Given the description of an element on the screen output the (x, y) to click on. 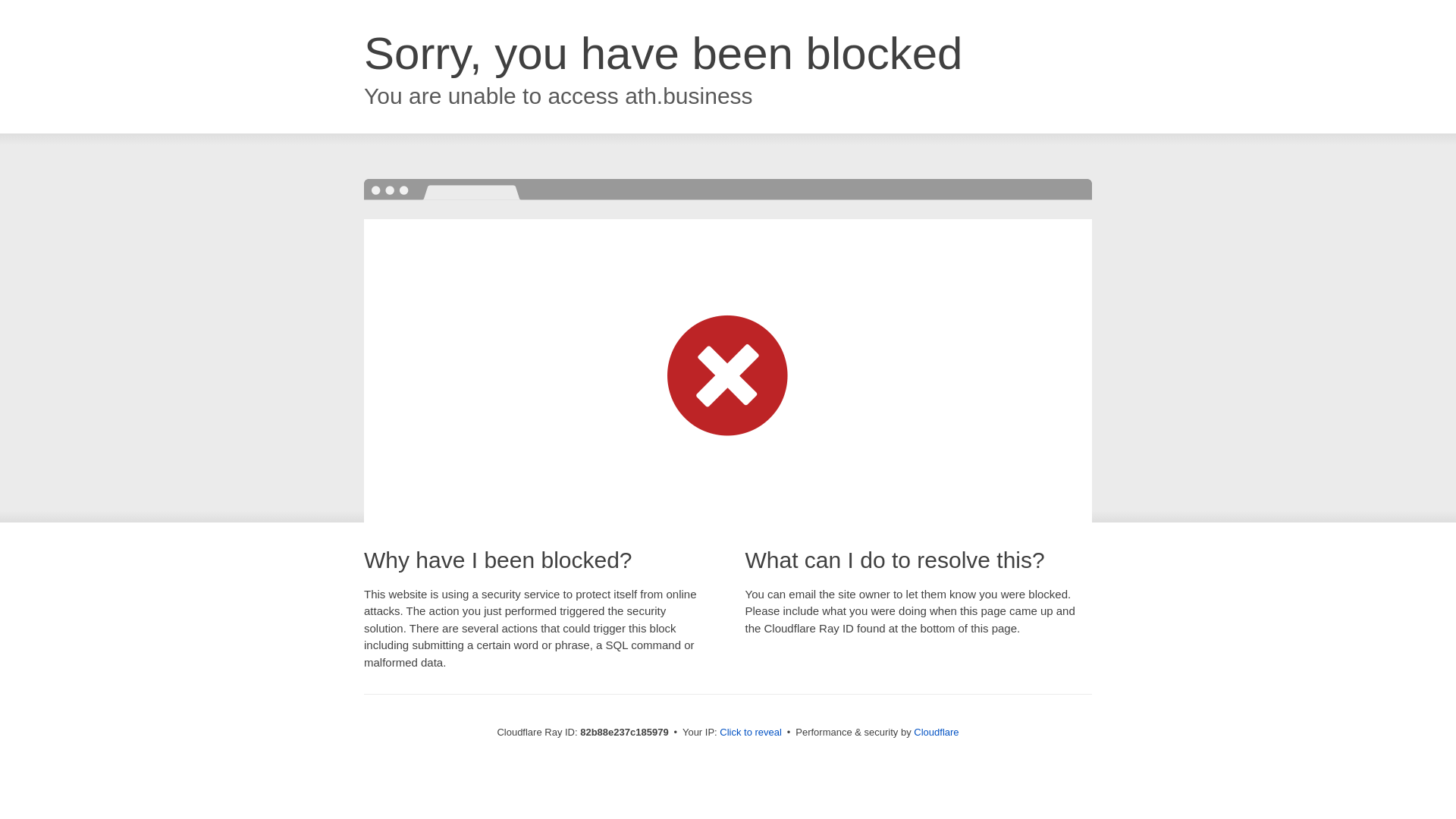
Click to reveal Element type: text (750, 732)
Cloudflare Element type: text (935, 731)
